Given the description of an element on the screen output the (x, y) to click on. 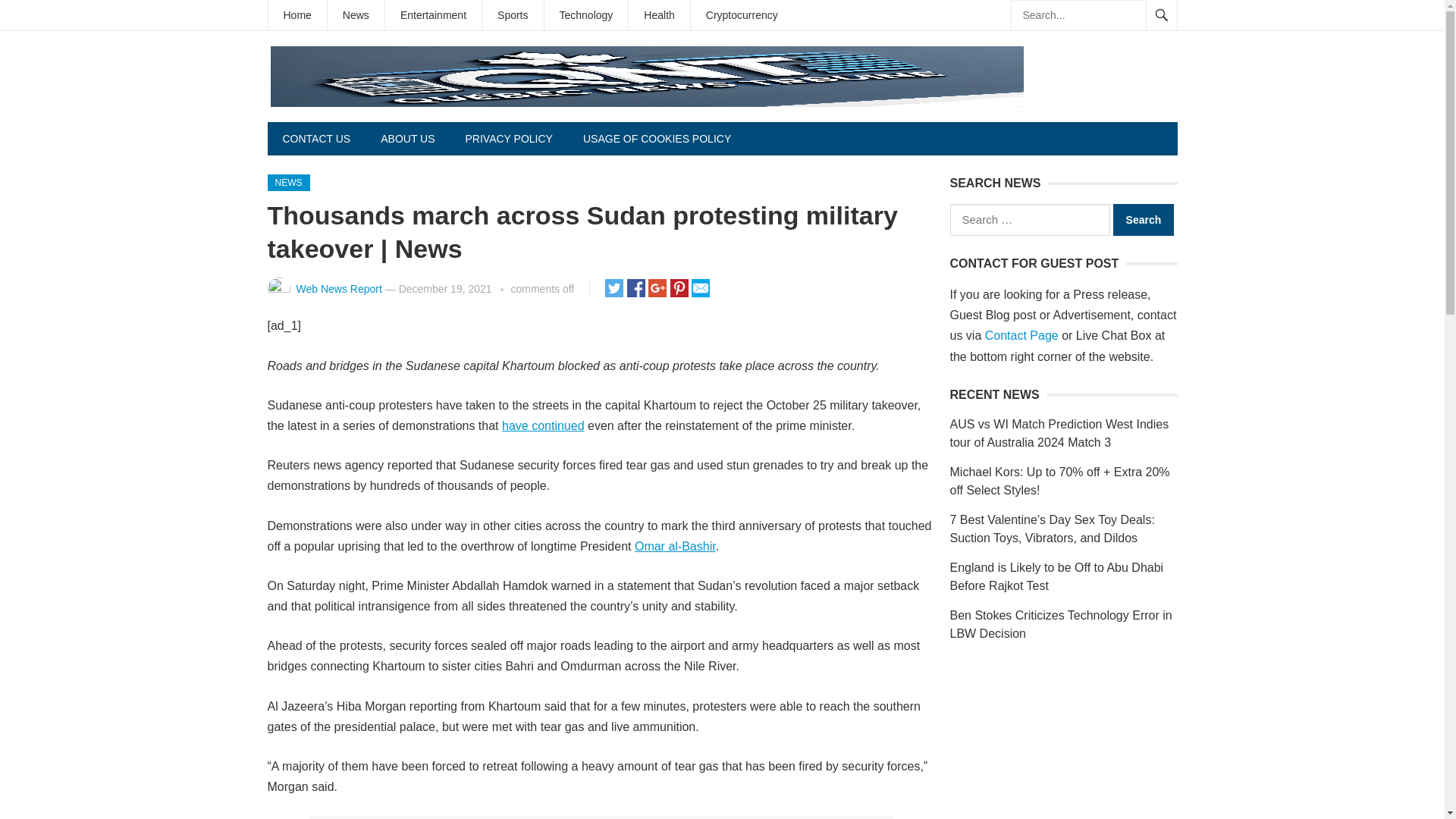
Posts by Web News Report (338, 288)
Technology (586, 15)
Web News Report (338, 288)
Entertainment (433, 15)
Search (1143, 219)
ABOUT US (407, 138)
NEWS (287, 182)
USAGE OF COOKIES POLICY (656, 138)
Search (1143, 219)
View all posts in News (287, 182)
Cryptocurrency (741, 15)
have continued (543, 425)
PRIVACY POLICY (508, 138)
News (355, 15)
Health (658, 15)
